Given the description of an element on the screen output the (x, y) to click on. 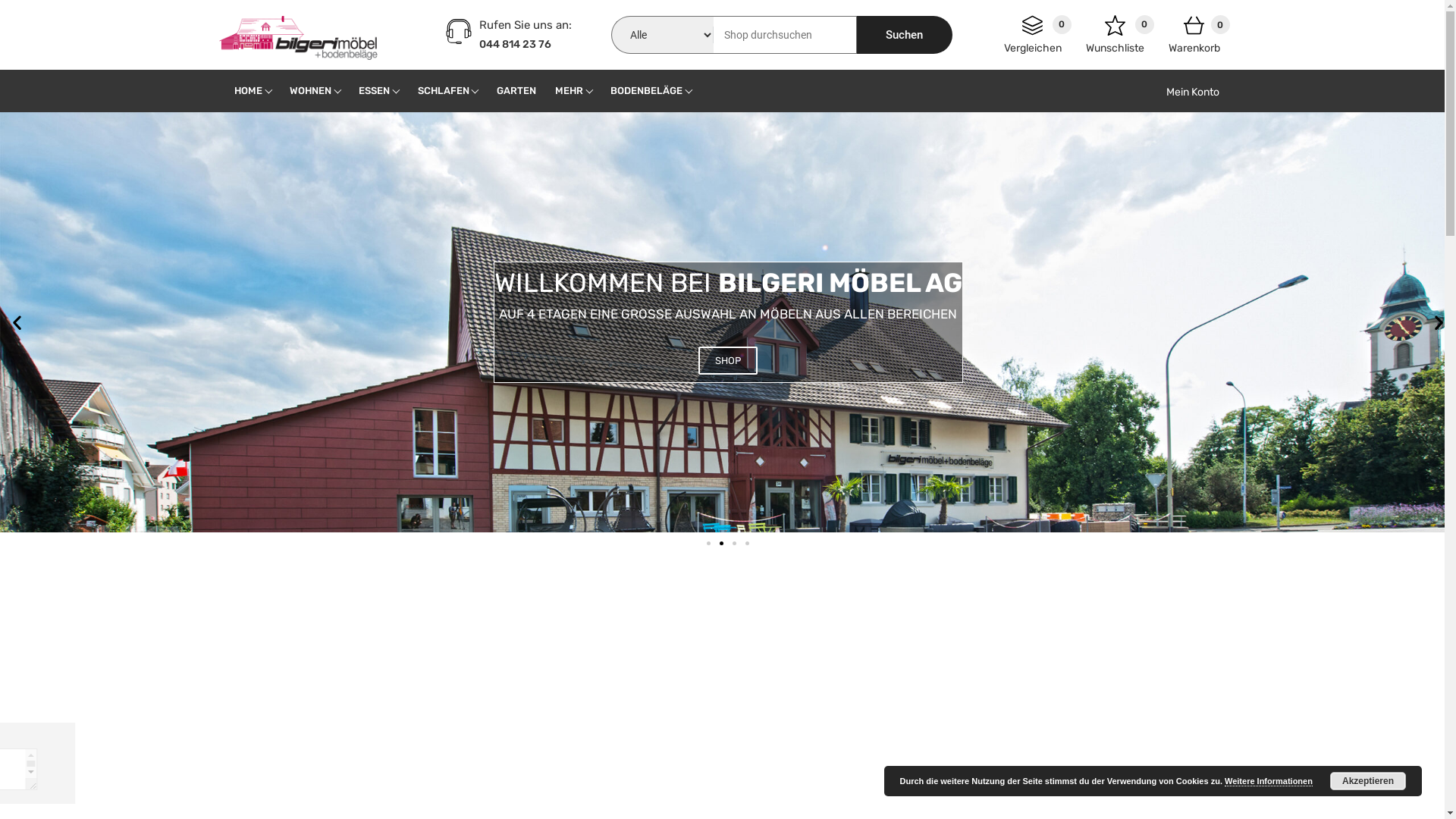
Akzeptieren Element type: text (1367, 780)
Mein Konto Element type: text (1186, 91)
0 Element type: text (1114, 28)
SHOP Element type: text (727, 360)
0 Element type: text (1032, 28)
SCHLAFEN Element type: text (442, 90)
MEHR Element type: text (568, 90)
HOME Element type: text (247, 90)
WOHNEN Element type: text (310, 90)
Suchen Element type: text (904, 34)
GARTEN Element type: text (515, 90)
ESSEN Element type: text (374, 90)
Weitere Informationen Element type: text (1268, 781)
0 Element type: text (1193, 28)
